Given the description of an element on the screen output the (x, y) to click on. 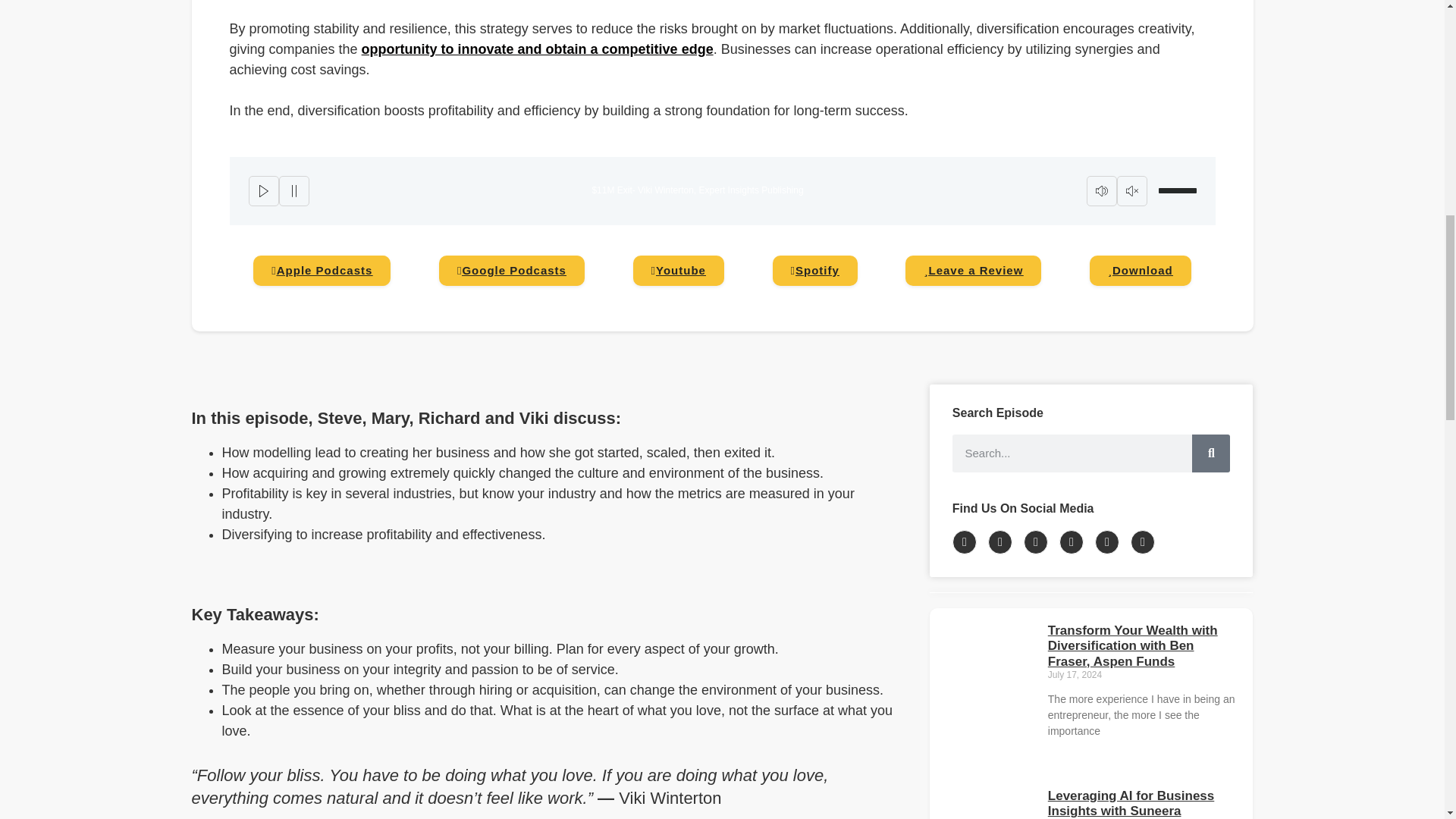
Unmute (1131, 191)
Mute (1101, 191)
